Given the description of an element on the screen output the (x, y) to click on. 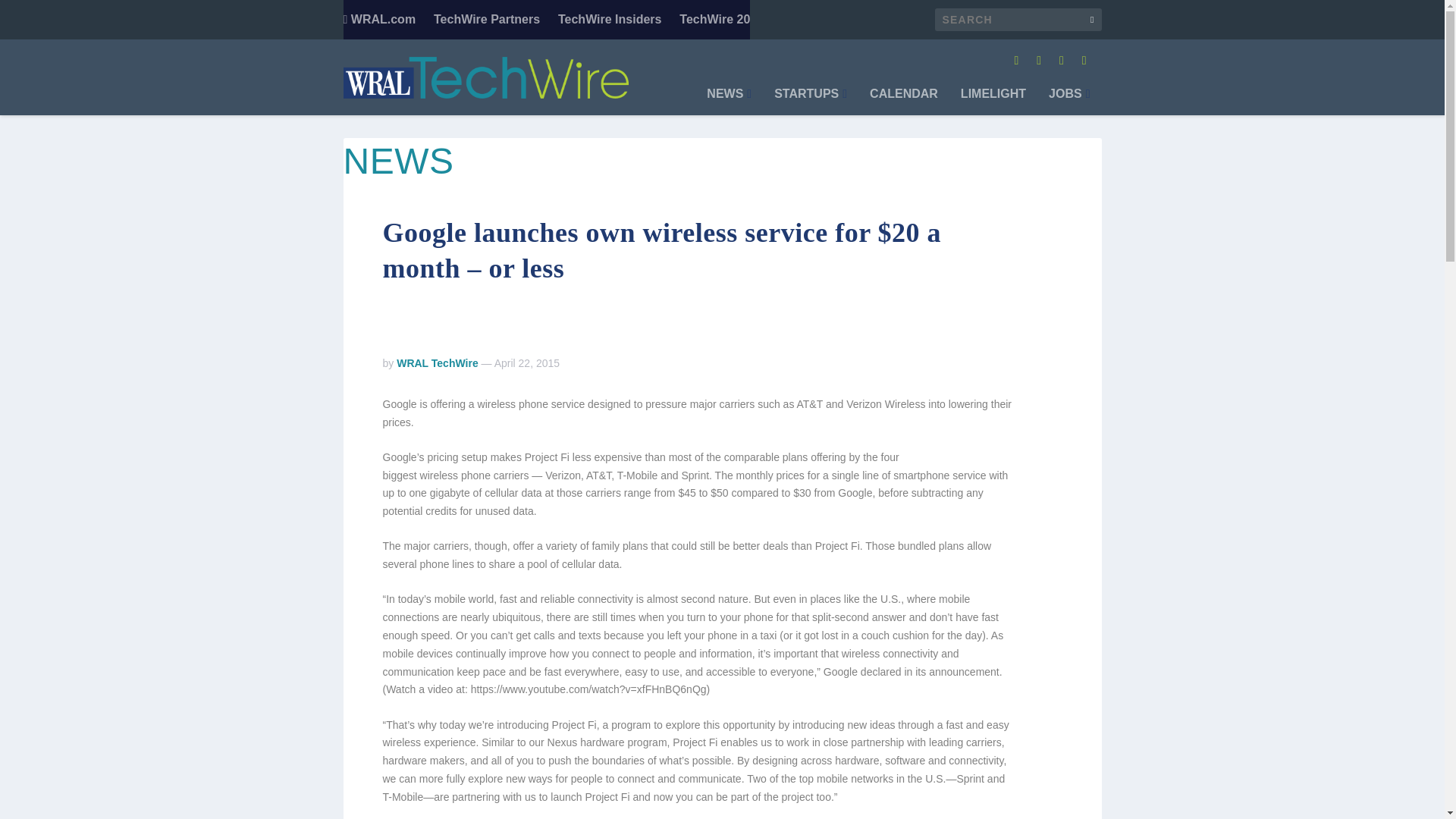
JOBS (1068, 101)
TechWire 20 (714, 19)
WRAL.com (378, 19)
CALENDAR (903, 101)
NEWS (728, 101)
STARTUPS (810, 101)
TechWire Partners (486, 19)
LIMELIGHT (993, 101)
TechWire Insiders (609, 19)
Search for: (1017, 19)
